Given the description of an element on the screen output the (x, y) to click on. 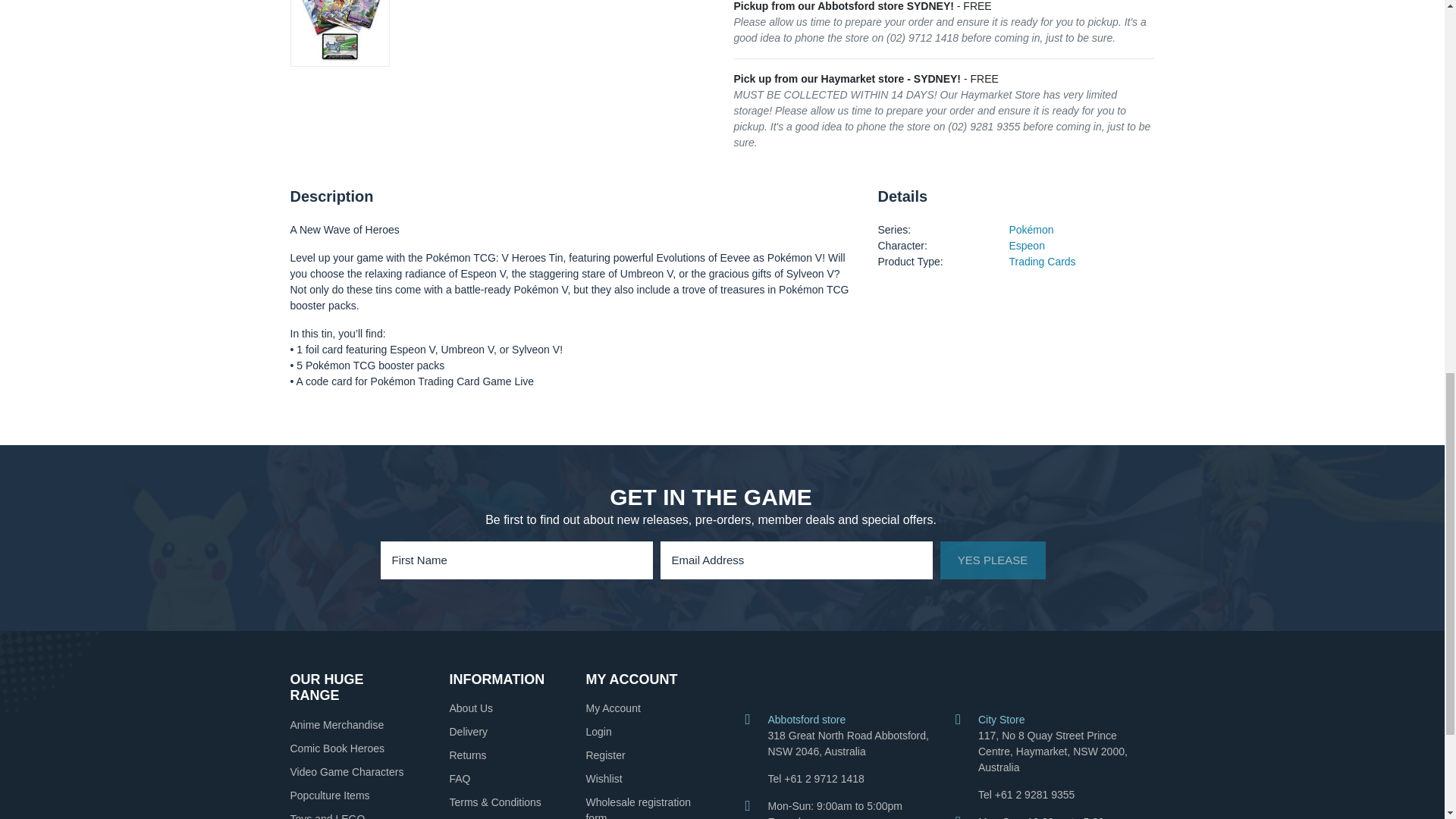
YES PLEASE (992, 560)
